Given the description of an element on the screen output the (x, y) to click on. 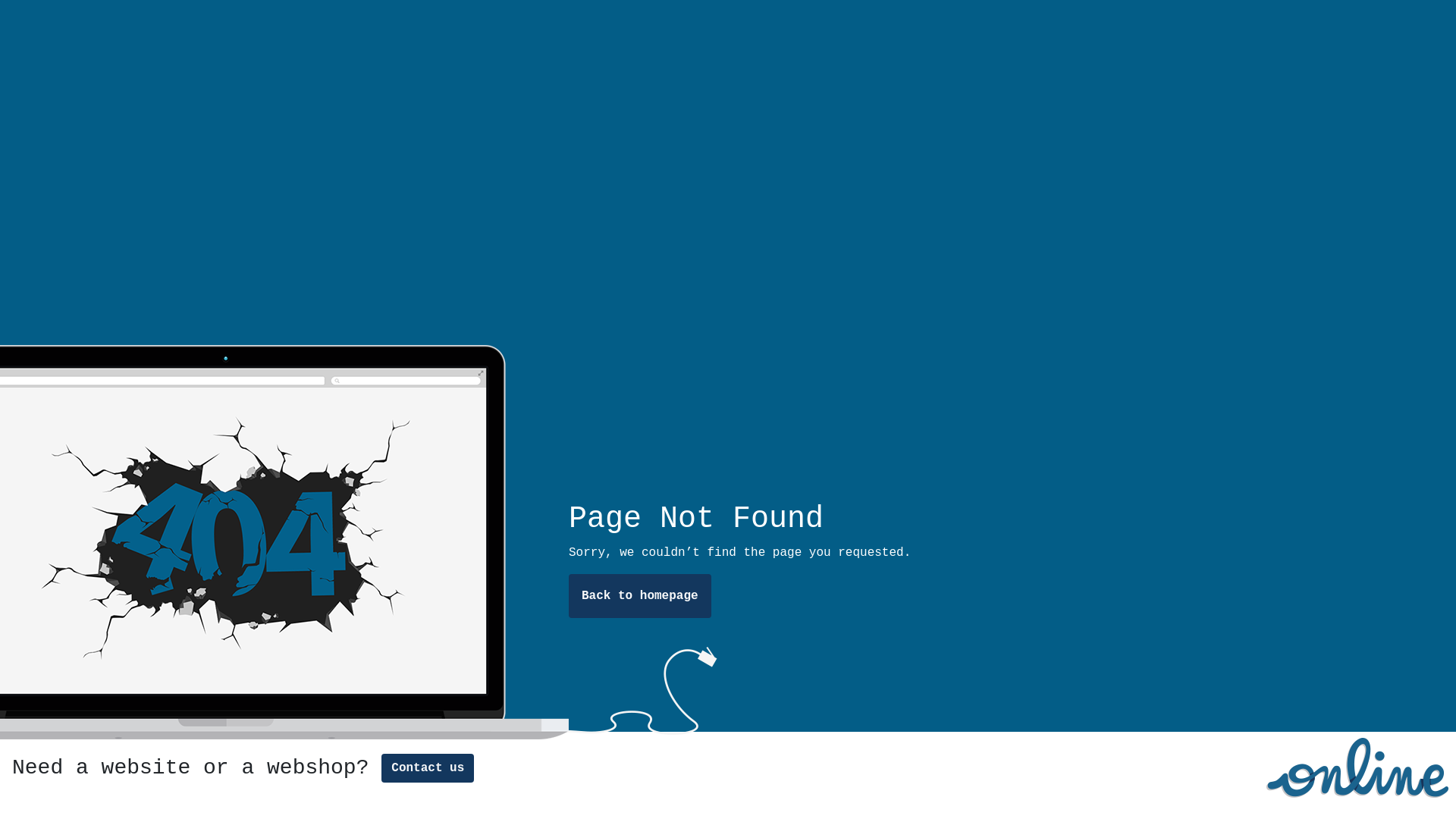
Contact us Element type: text (427, 767)
Back to homepage Element type: text (639, 596)
